Given the description of an element on the screen output the (x, y) to click on. 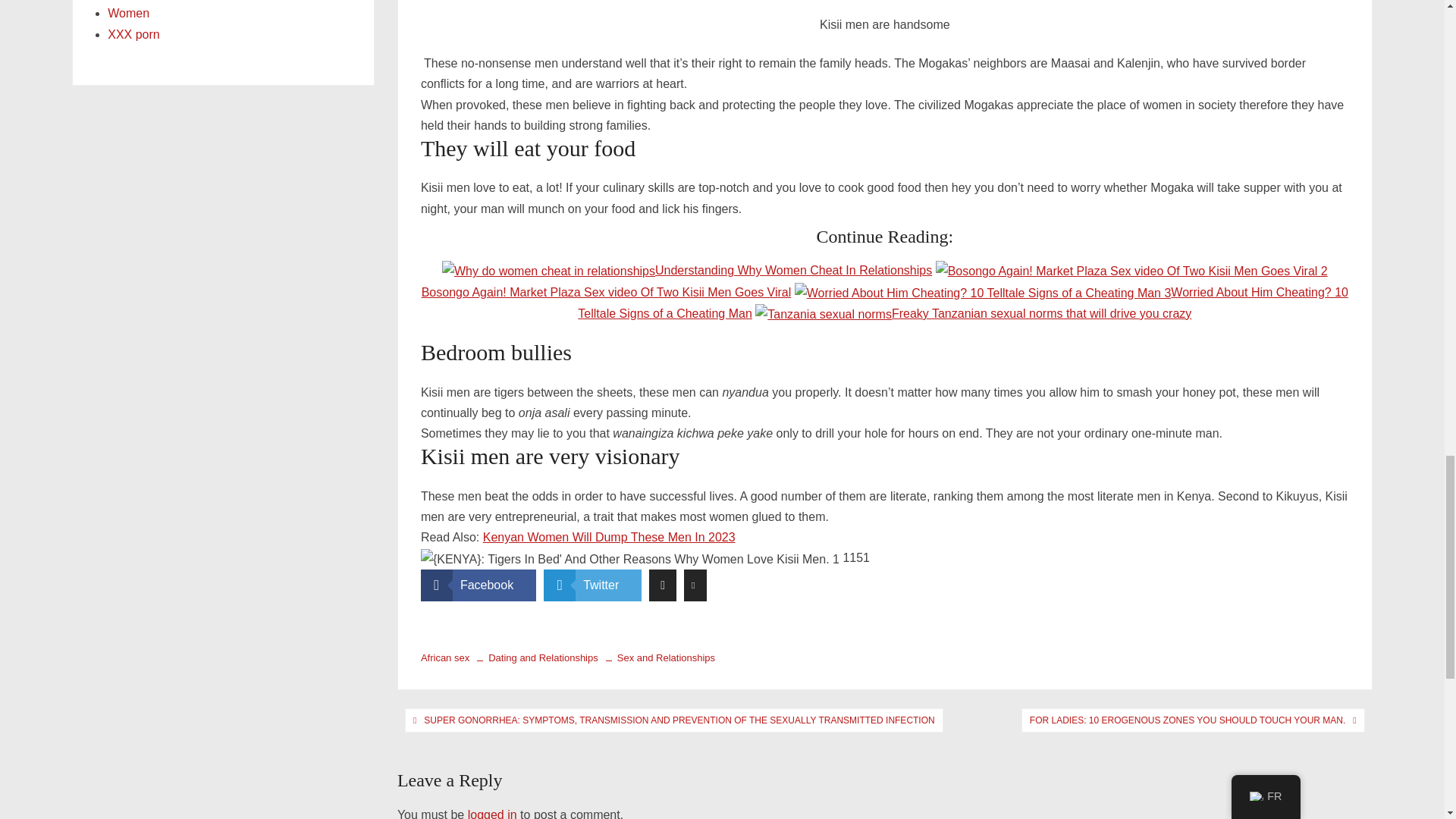
Understanding Why Women Cheat In Relationships 4 (548, 271)
Understanding Why Women Cheat In Relationships (686, 269)
